Given the description of an element on the screen output the (x, y) to click on. 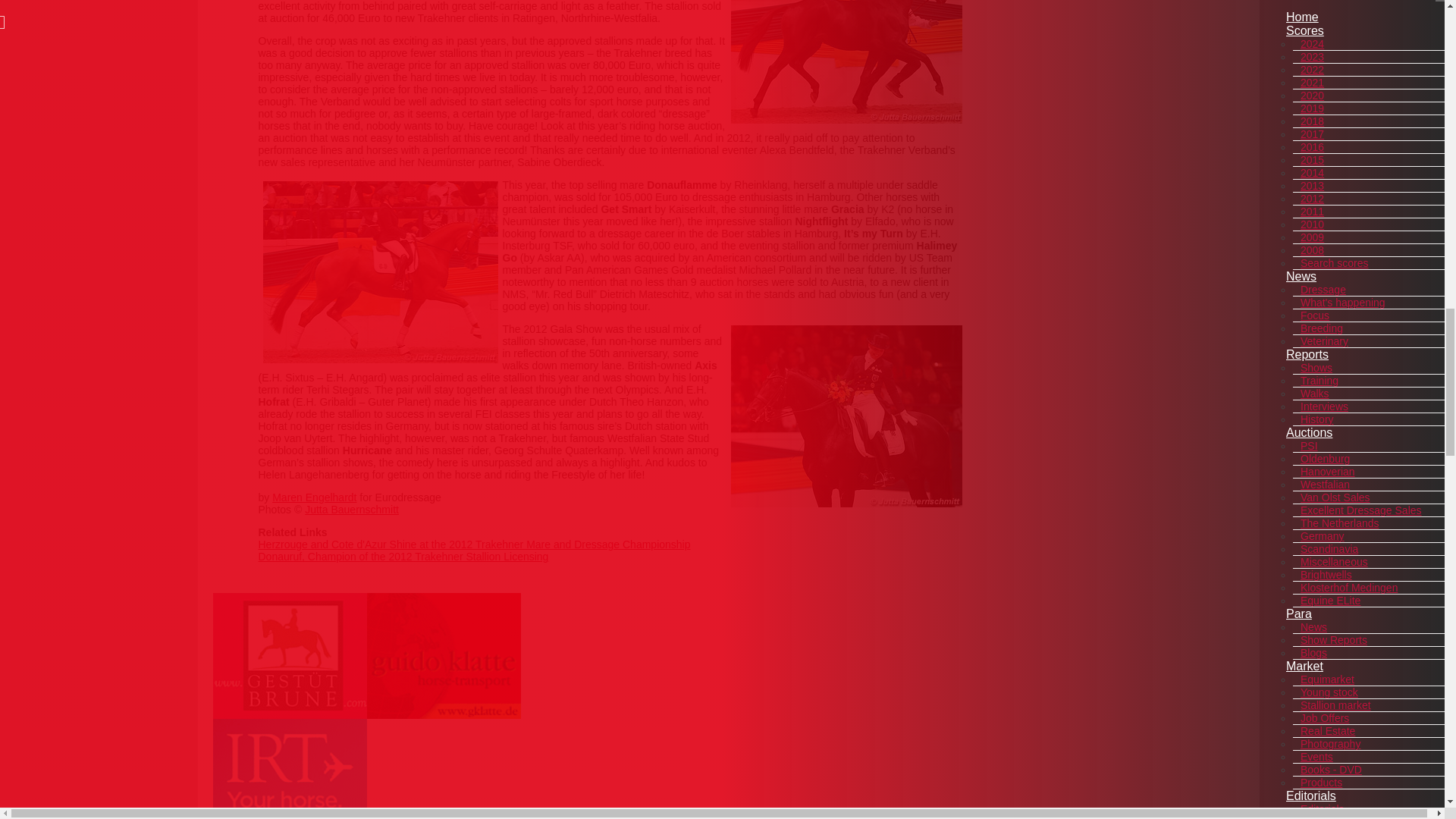
Whizzkid (846, 61)
Donauflamme (379, 271)
Terhi Stegars on Axis (846, 415)
